Given the description of an element on the screen output the (x, y) to click on. 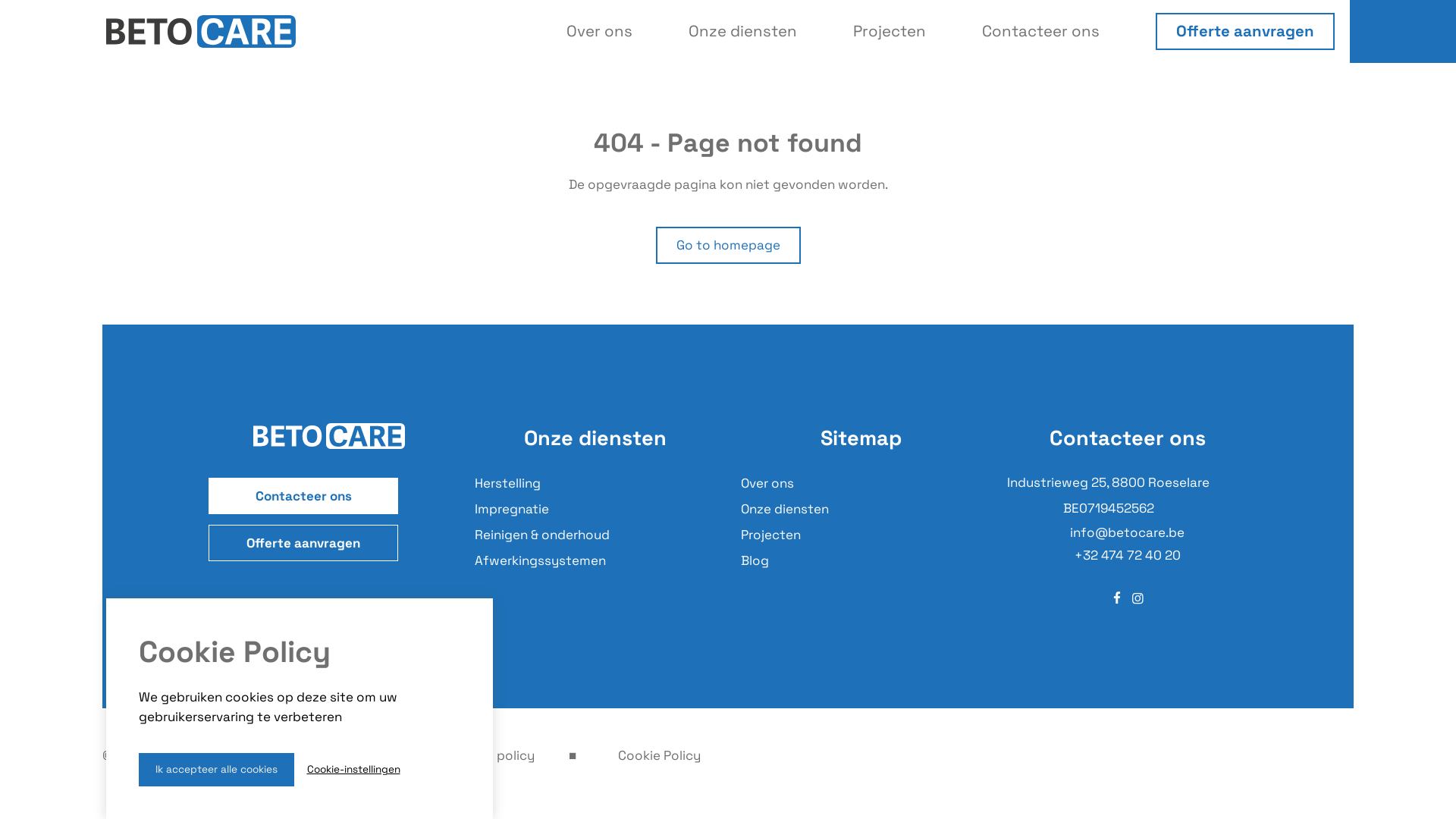
Hannibal Element type: text (334, 754)
Contacteer ons Element type: text (303, 495)
Onze diensten Element type: text (784, 508)
Afwerkingssystemen Element type: text (539, 560)
Reinigen & onderhoud Element type: text (541, 534)
Projecten Element type: text (889, 30)
Go to homepage Element type: text (727, 245)
Projecten Element type: text (770, 534)
Privacy policy Element type: text (491, 754)
Cookie Policy Element type: text (659, 754)
Offerte aanvragen Element type: text (1244, 31)
Contacteer ons Element type: text (1040, 30)
Over ons Element type: text (599, 30)
+32 474 72 40 20 Element type: text (1127, 555)
Herstelling Element type: text (507, 483)
Over ons Element type: text (766, 483)
info@betocare.be Element type: text (1127, 532)
Onze diensten Element type: text (742, 30)
Impregnatie Element type: text (511, 508)
Ik accepteer alle cookies Element type: text (215, 769)
Blog Element type: text (754, 560)
Offerte aanvragen Element type: text (303, 542)
